Given the description of an element on the screen output the (x, y) to click on. 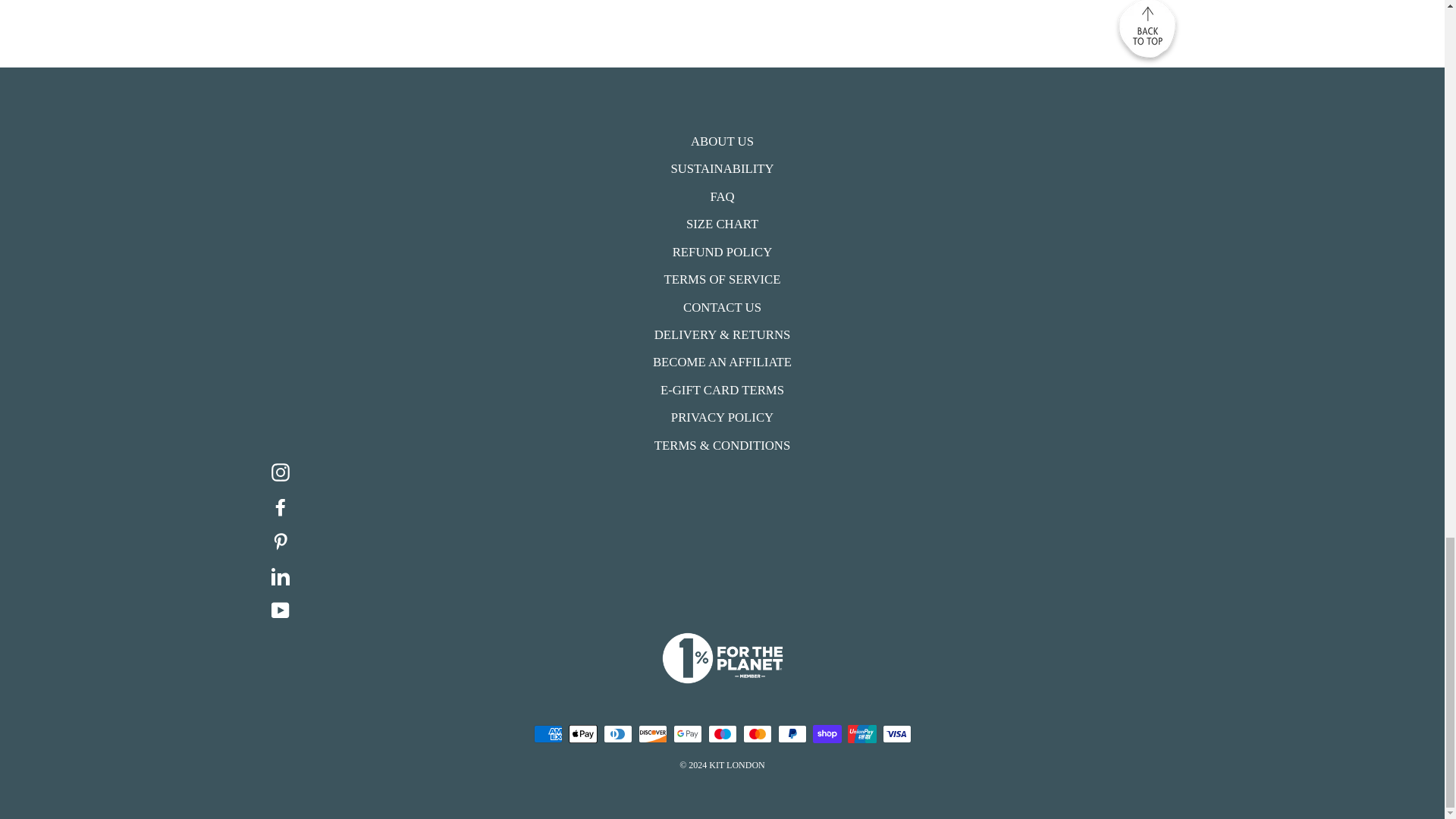
KIT LONDON on Instagram (727, 471)
Visa (896, 733)
Google Pay (686, 733)
Mastercard (756, 733)
Apple Pay (582, 733)
Diners Club (617, 733)
Union Pay (861, 733)
Maestro (721, 733)
KIT LONDON on YouTube (727, 609)
KIT LONDON on Pinterest (727, 540)
Shop Pay (826, 733)
Discover (652, 733)
American Express (548, 733)
KIT LONDON on LinkedIn (727, 575)
PayPal (791, 733)
